Given the description of an element on the screen output the (x, y) to click on. 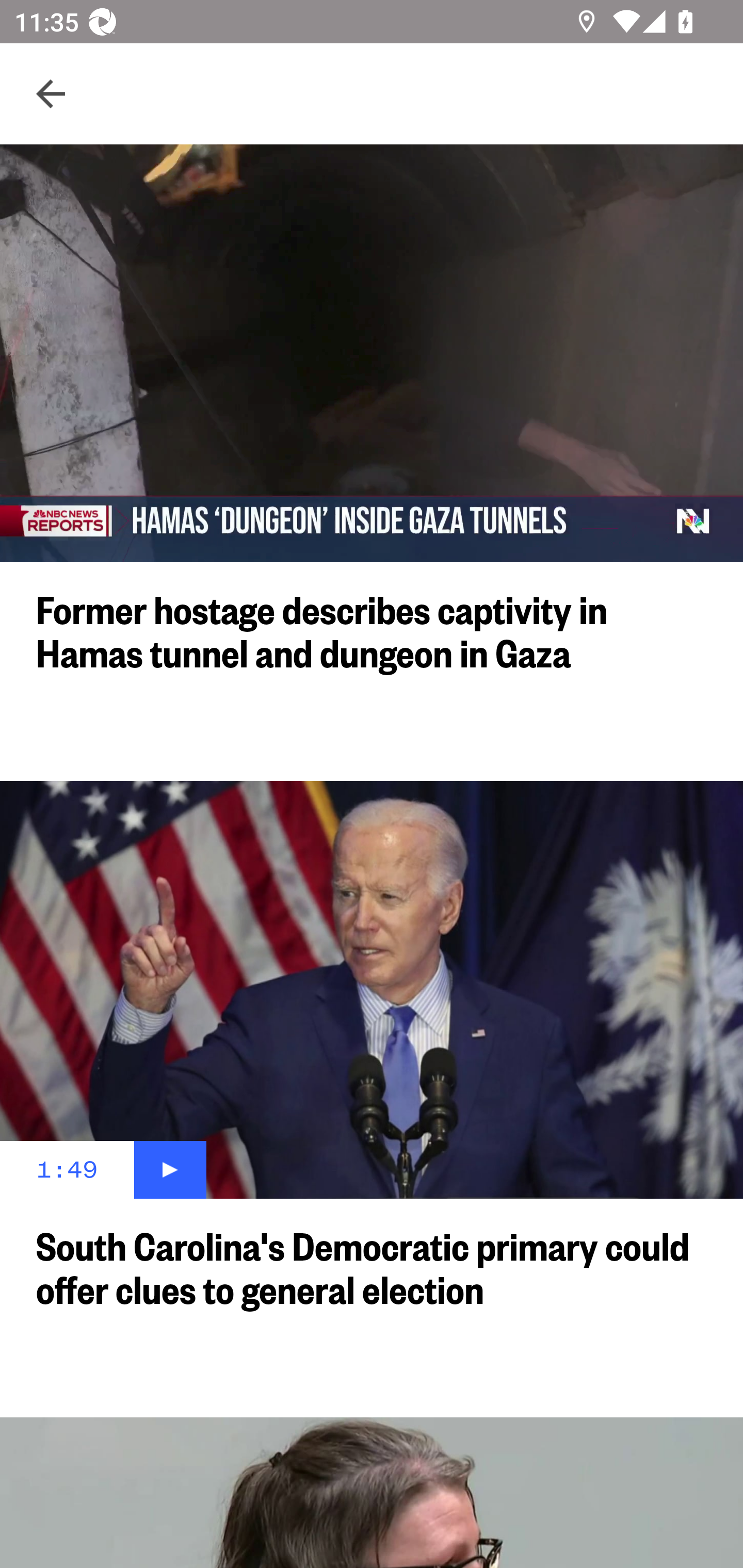
Navigate up (50, 93)
